Given the description of an element on the screen output the (x, y) to click on. 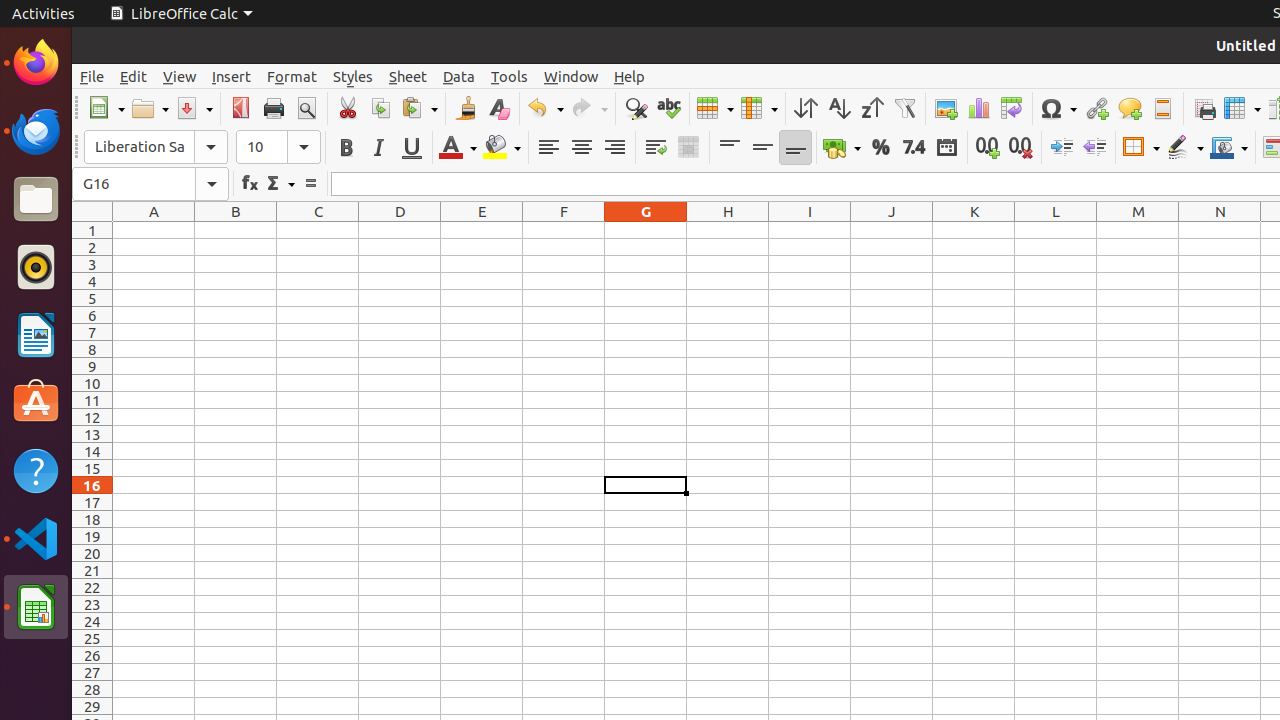
Align Bottom Element type: push-button (795, 147)
K1 Element type: table-cell (974, 230)
Currency Element type: push-button (842, 147)
Tools Element type: menu (509, 76)
Spelling Element type: push-button (668, 108)
